Given the description of an element on the screen output the (x, y) to click on. 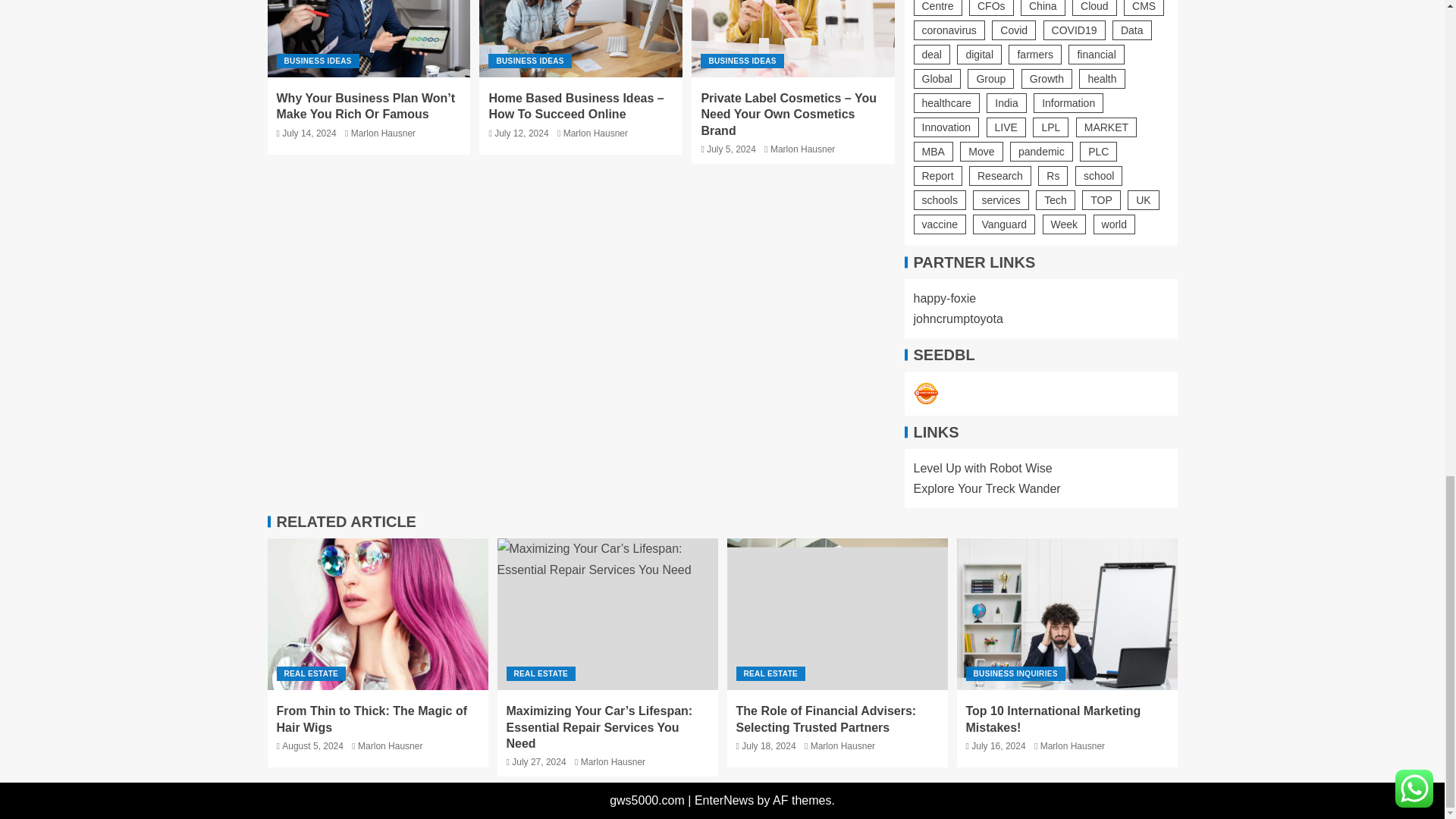
The Role of Financial Advisers: Selecting Trusted Partners (836, 614)
Seedbacklink (925, 393)
BUSINESS IDEAS (528, 60)
Marlon Hausner (382, 132)
Marlon Hausner (595, 132)
From Thin to Thick: The Magic of Hair Wigs (376, 614)
BUSINESS IDEAS (317, 60)
